Given the description of an element on the screen output the (x, y) to click on. 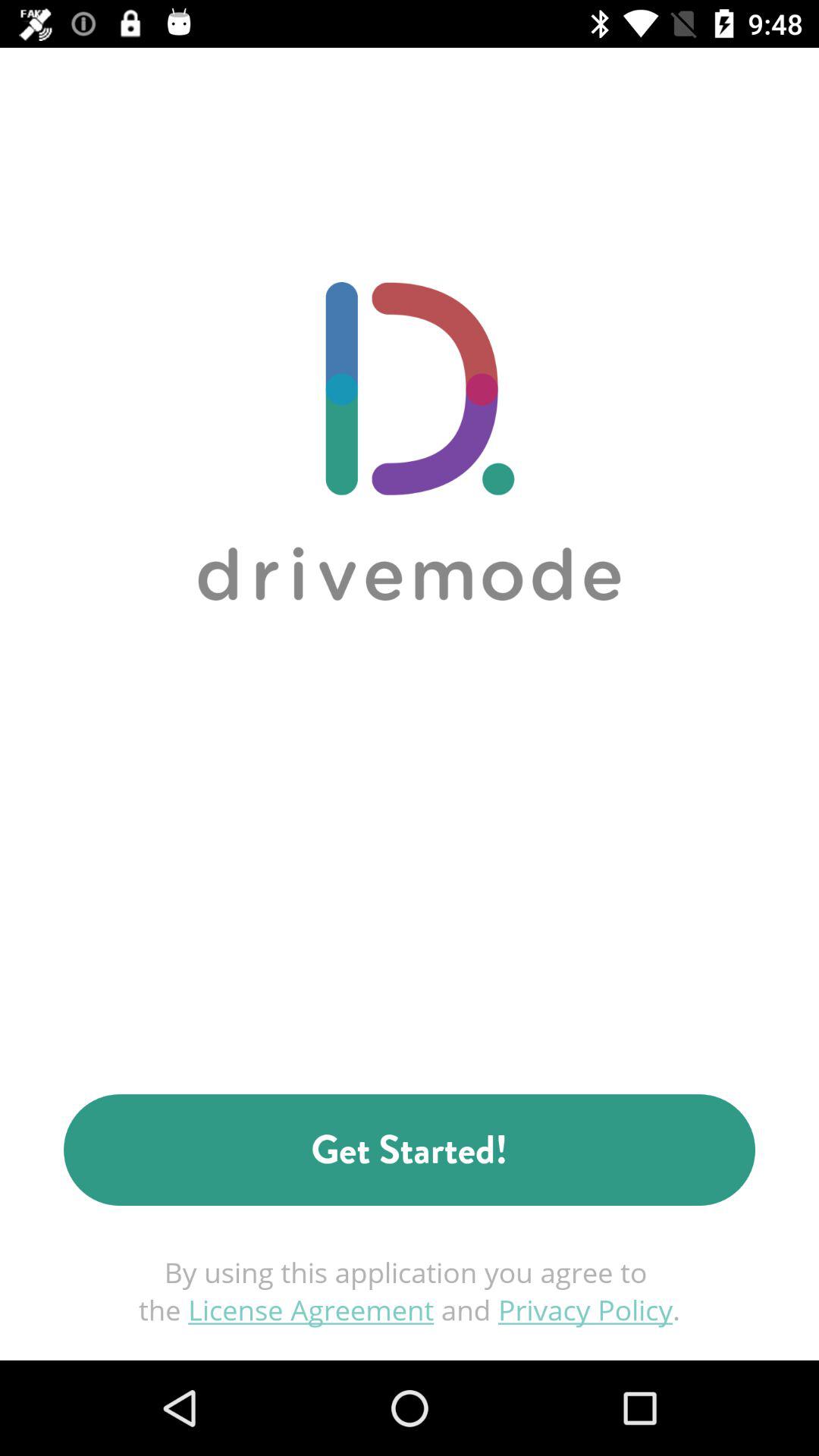
choose by using this (409, 1290)
